Given the description of an element on the screen output the (x, y) to click on. 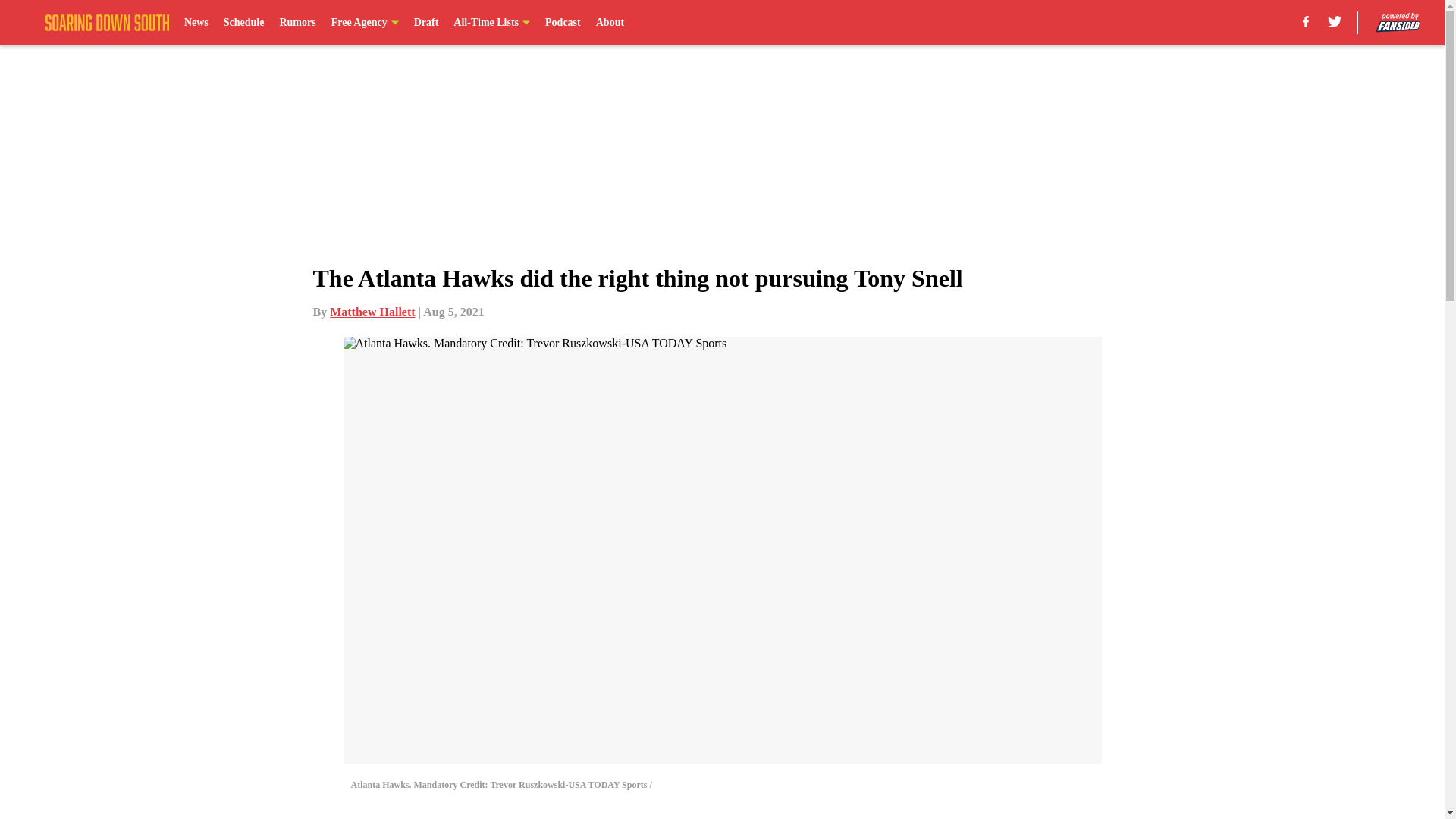
Matthew Hallett (372, 311)
Free Agency (364, 22)
Rumors (297, 22)
News (196, 22)
About (609, 22)
Schedule (244, 22)
All-Time Lists (490, 22)
Podcast (562, 22)
Draft (426, 22)
